Given the description of an element on the screen output the (x, y) to click on. 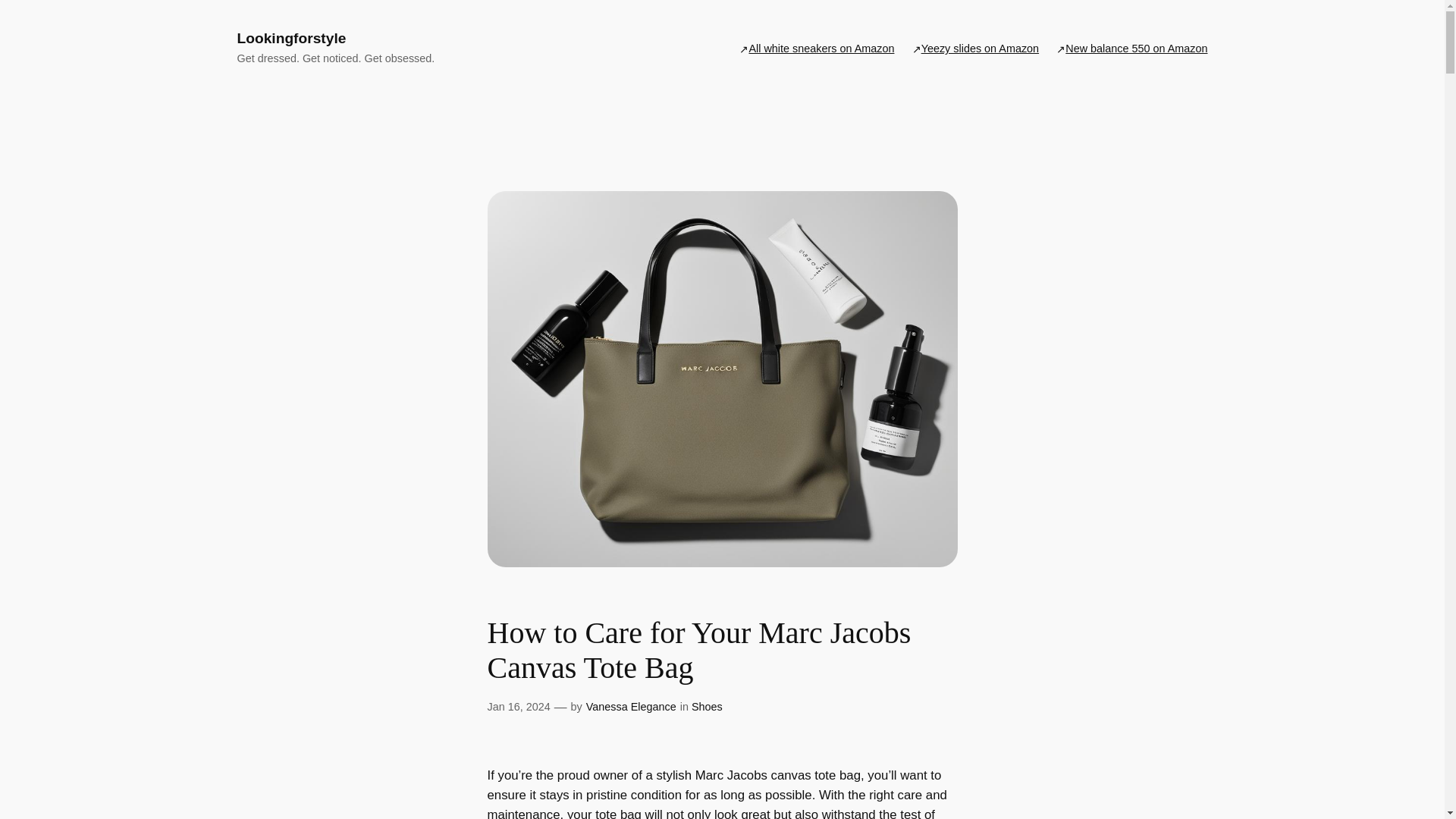
Shoes (706, 706)
All white sneakers on Amazon (820, 48)
Jan 16, 2024 (518, 706)
Vanessa Elegance (631, 706)
New balance 550 on Amazon (1136, 48)
Yeezy slides on Amazon (980, 48)
Lookingforstyle (290, 37)
